Given the description of an element on the screen output the (x, y) to click on. 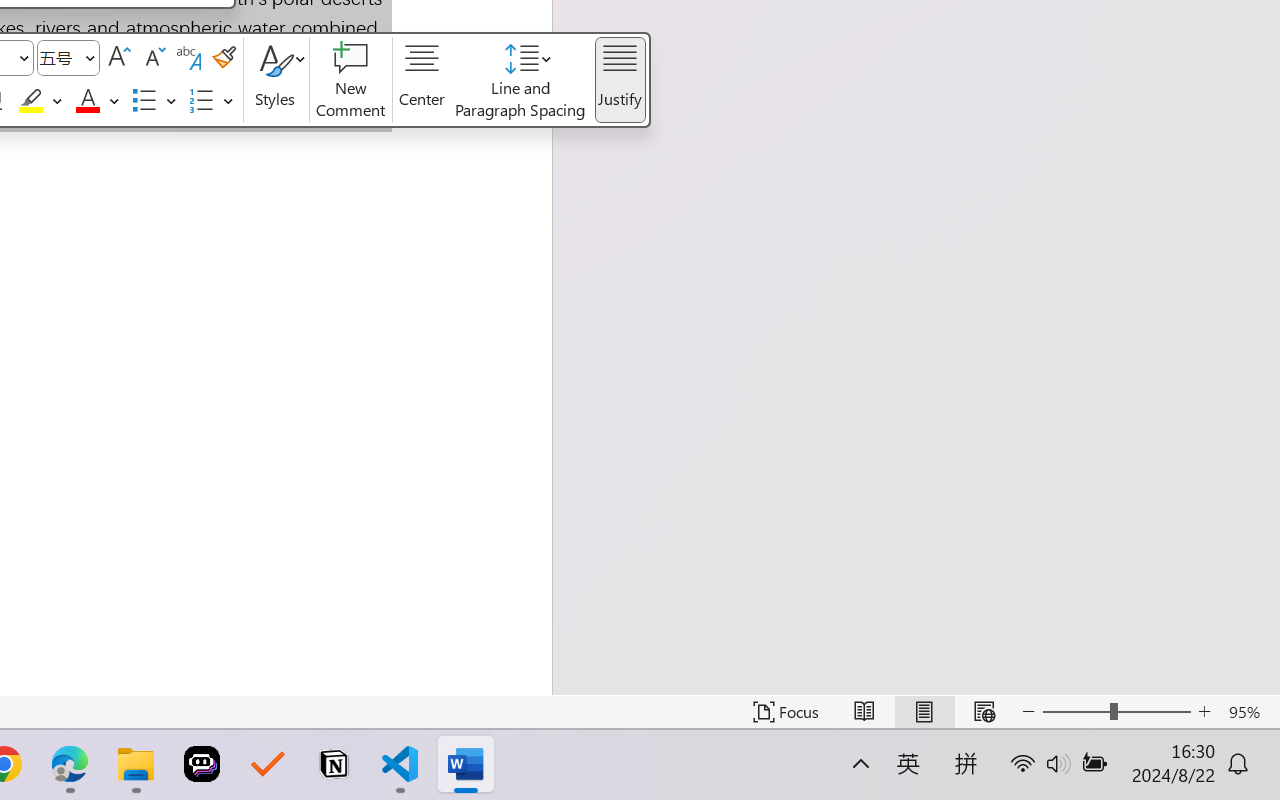
Line and Paragraph Spacing (521, 79)
Justify (620, 79)
Zoom 95% (1249, 712)
New Comment (351, 79)
Center (422, 79)
Styles (276, 79)
Open (89, 58)
Grow Font (118, 58)
